Given the description of an element on the screen output the (x, y) to click on. 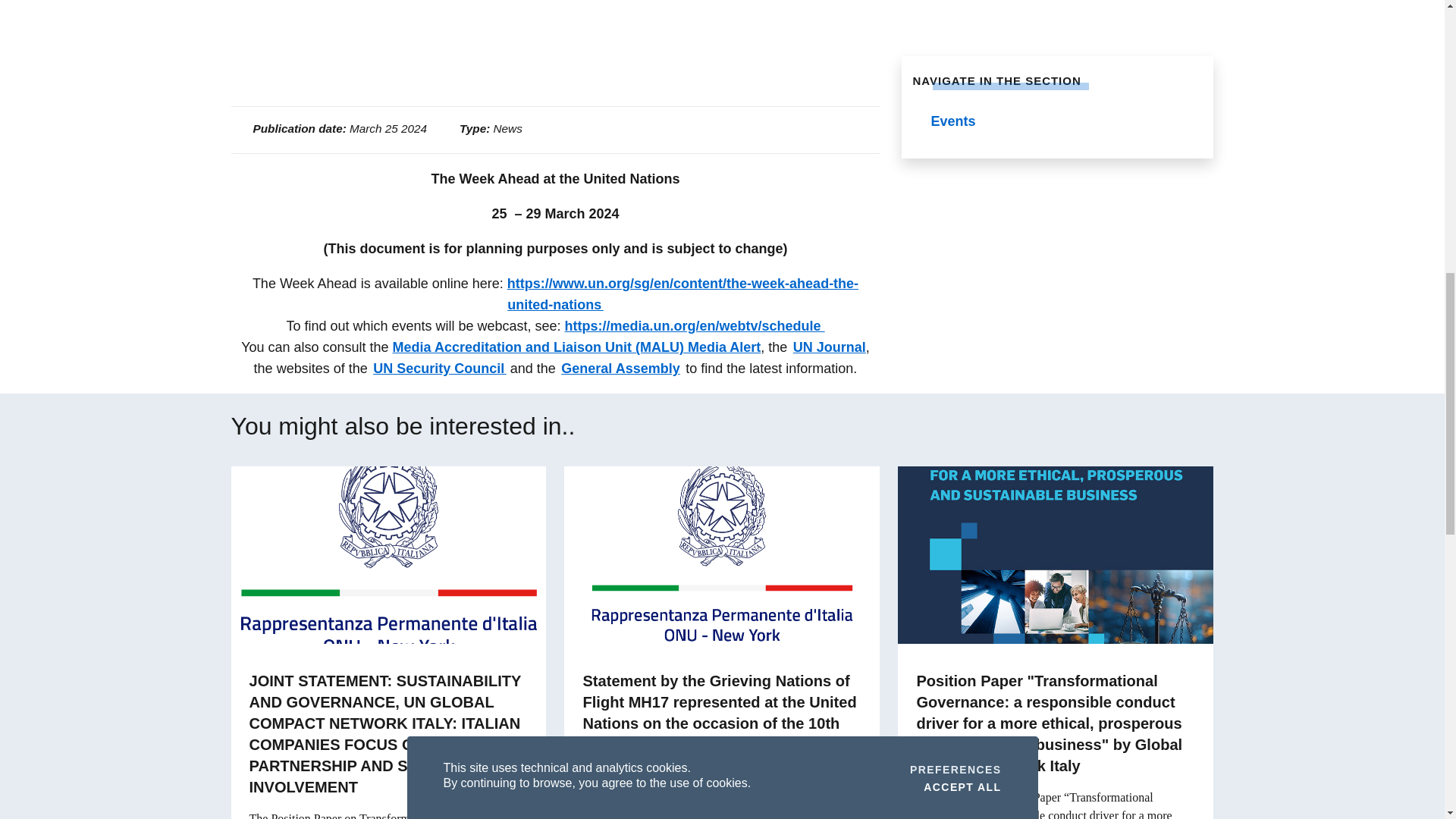
maeci rappresentanza permanente italia v it (721, 554)
UN Journal (829, 346)
General Assembly (619, 368)
maeci-rappresentanza-permanente-italia-v-it (388, 554)
UN Security Council (439, 368)
